Given the description of an element on the screen output the (x, y) to click on. 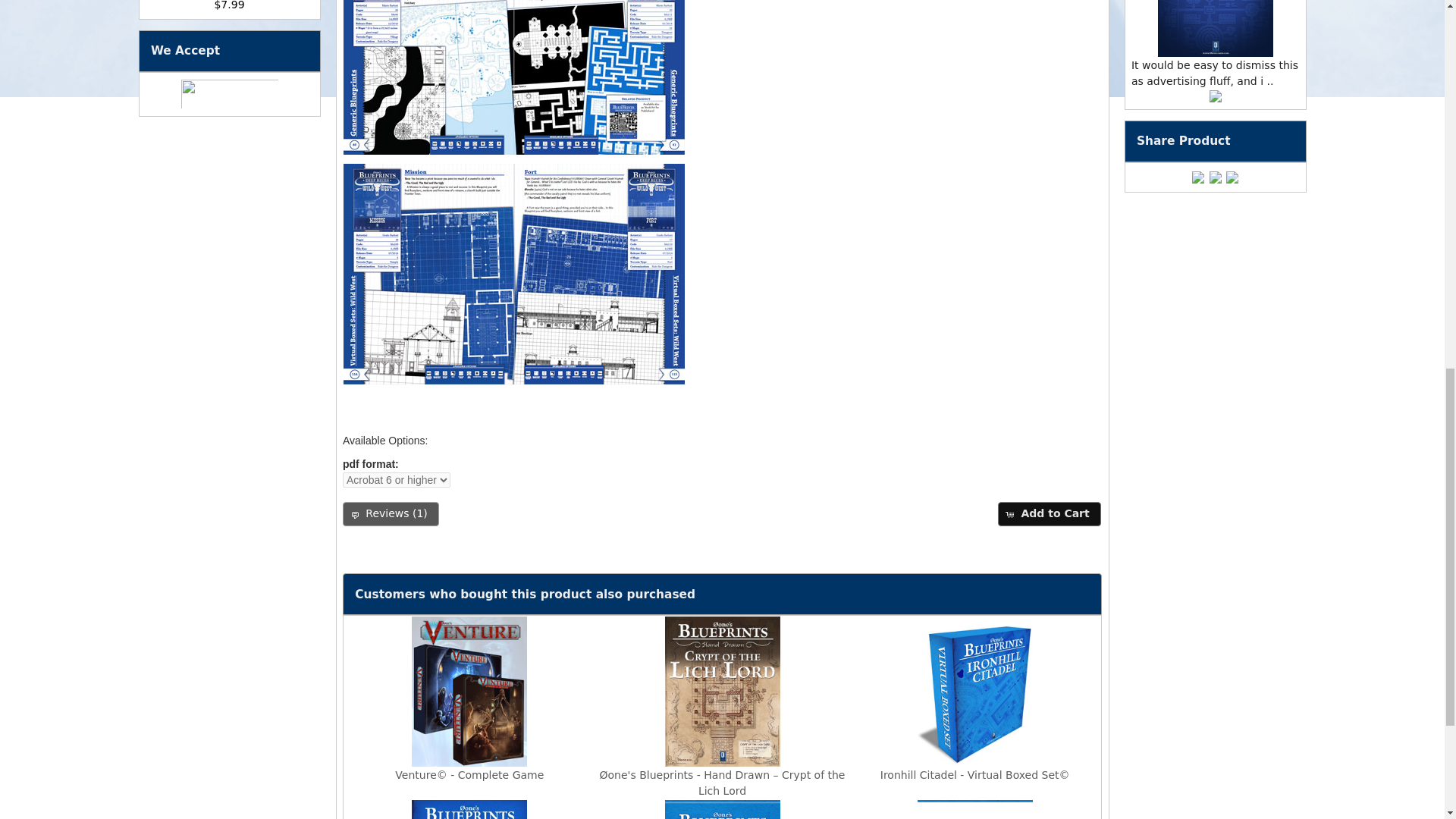
5 of 5 Stars! (1215, 96)
Pin It (1232, 177)
The Blue Book 2016 (1215, 28)
Share on Facebook (1198, 177)
Add to Cart (1048, 514)
Share on Twitter (1215, 177)
